Given the description of an element on the screen output the (x, y) to click on. 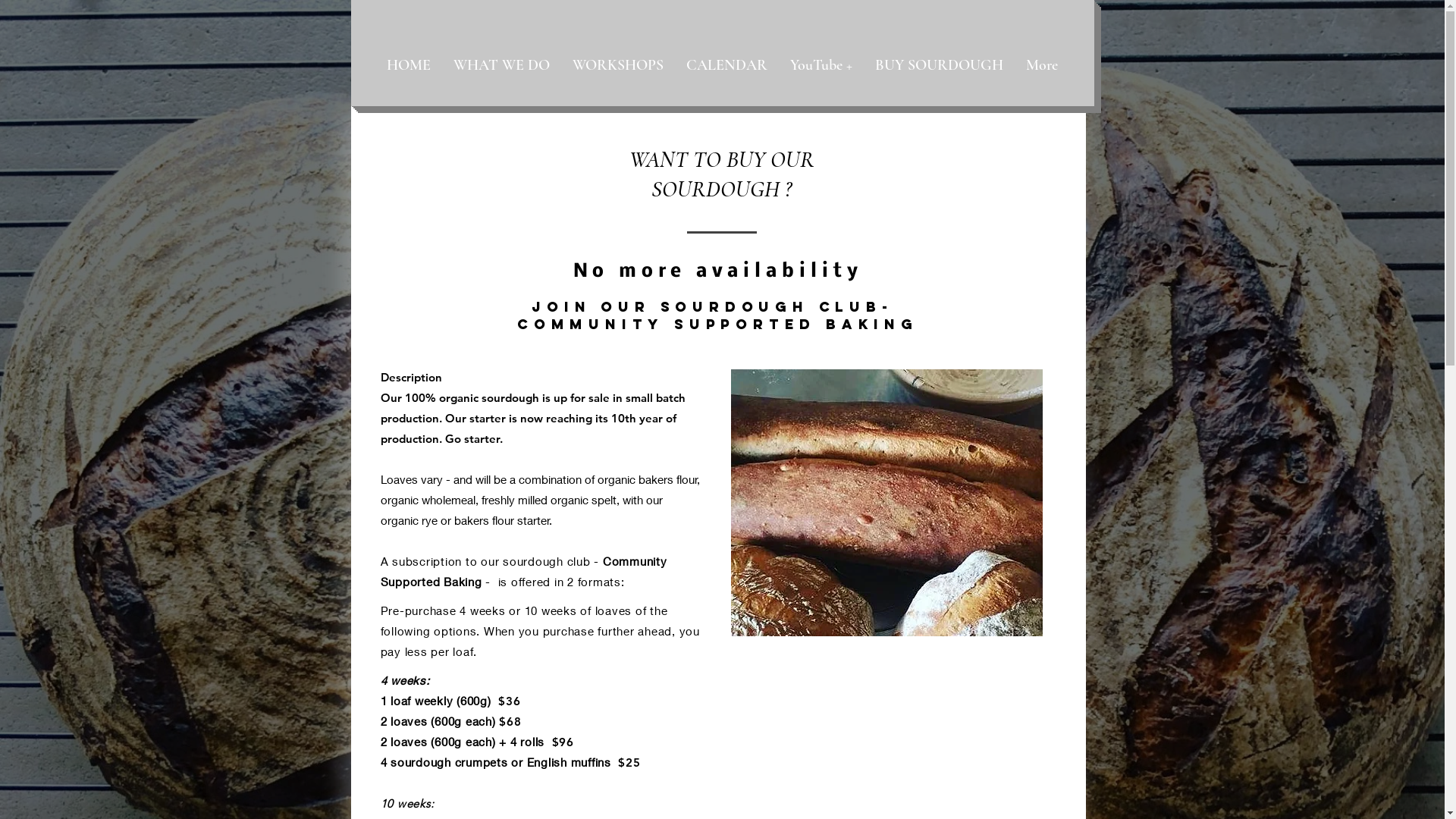
BUY SOURDOUGH Element type: text (938, 65)
CALENDAR Element type: text (726, 65)
WORKSHOPS Element type: text (617, 65)
WHAT WE DO Element type: text (501, 65)
YouTube + Element type: text (820, 65)
HOME Element type: text (408, 65)
